Given the description of an element on the screen output the (x, y) to click on. 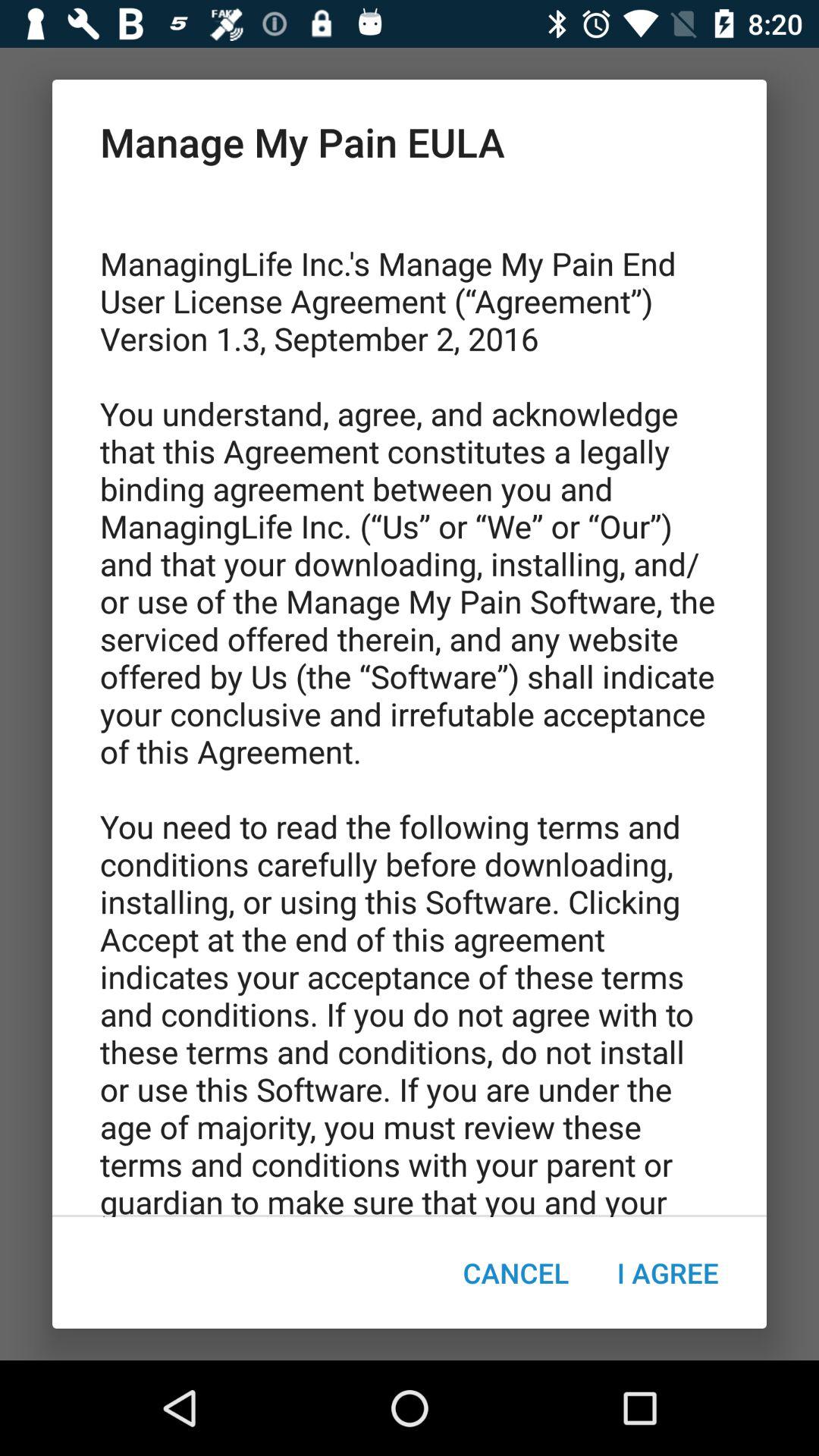
press the icon below the managinglife inc s (516, 1272)
